Given the description of an element on the screen output the (x, y) to click on. 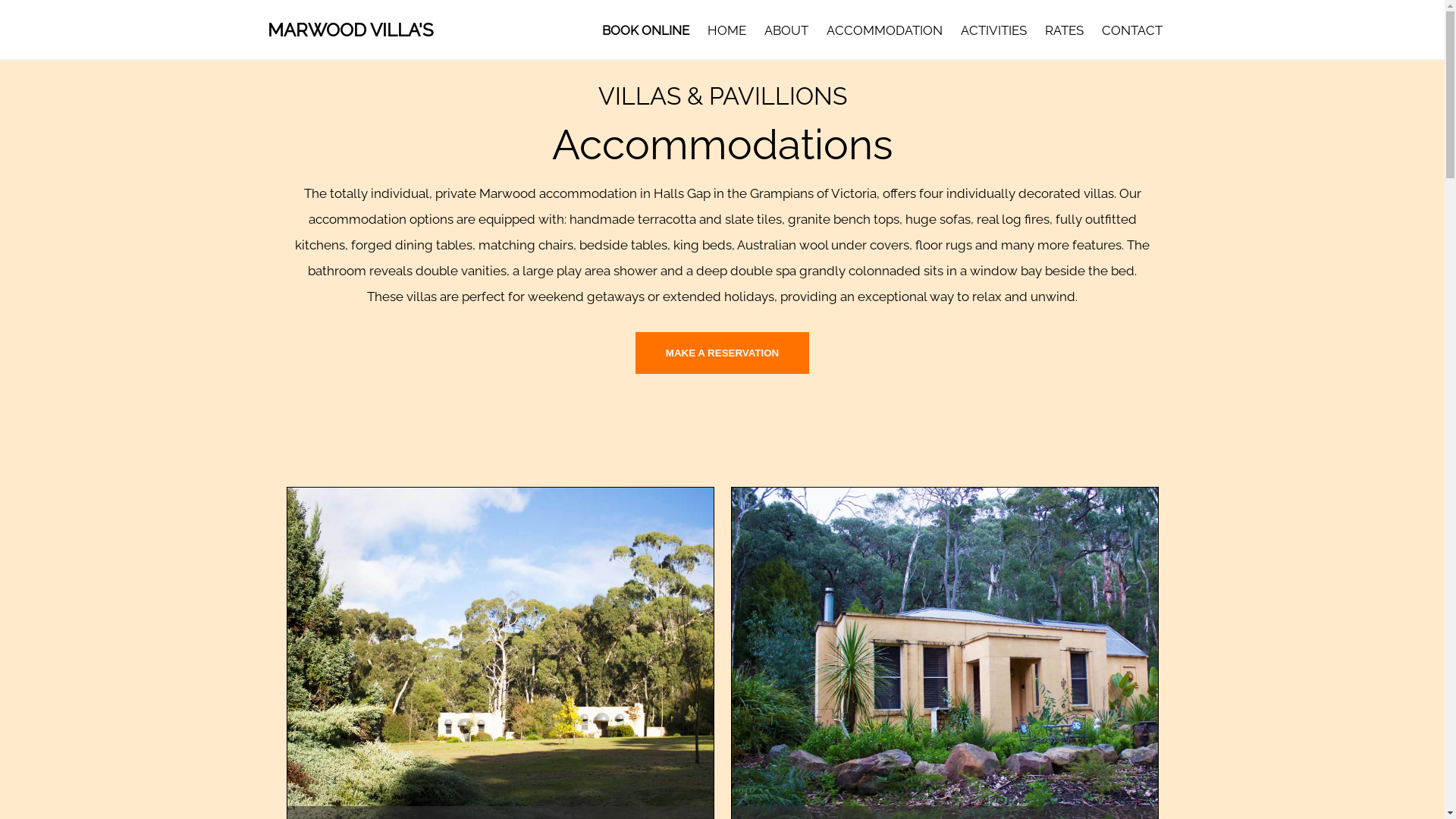
ABOUT Element type: text (786, 30)
CONTACT Element type: text (1131, 30)
ACTIVITIES Element type: text (993, 30)
ACCOMMODATION Element type: text (884, 30)
RATES Element type: text (1063, 30)
HOME Element type: text (725, 30)
BOOK ONLINE Element type: text (645, 30)
MAKE A RESERVATION Element type: text (722, 352)
MAKE A RESERVATION Element type: text (722, 351)
